Given the description of an element on the screen output the (x, y) to click on. 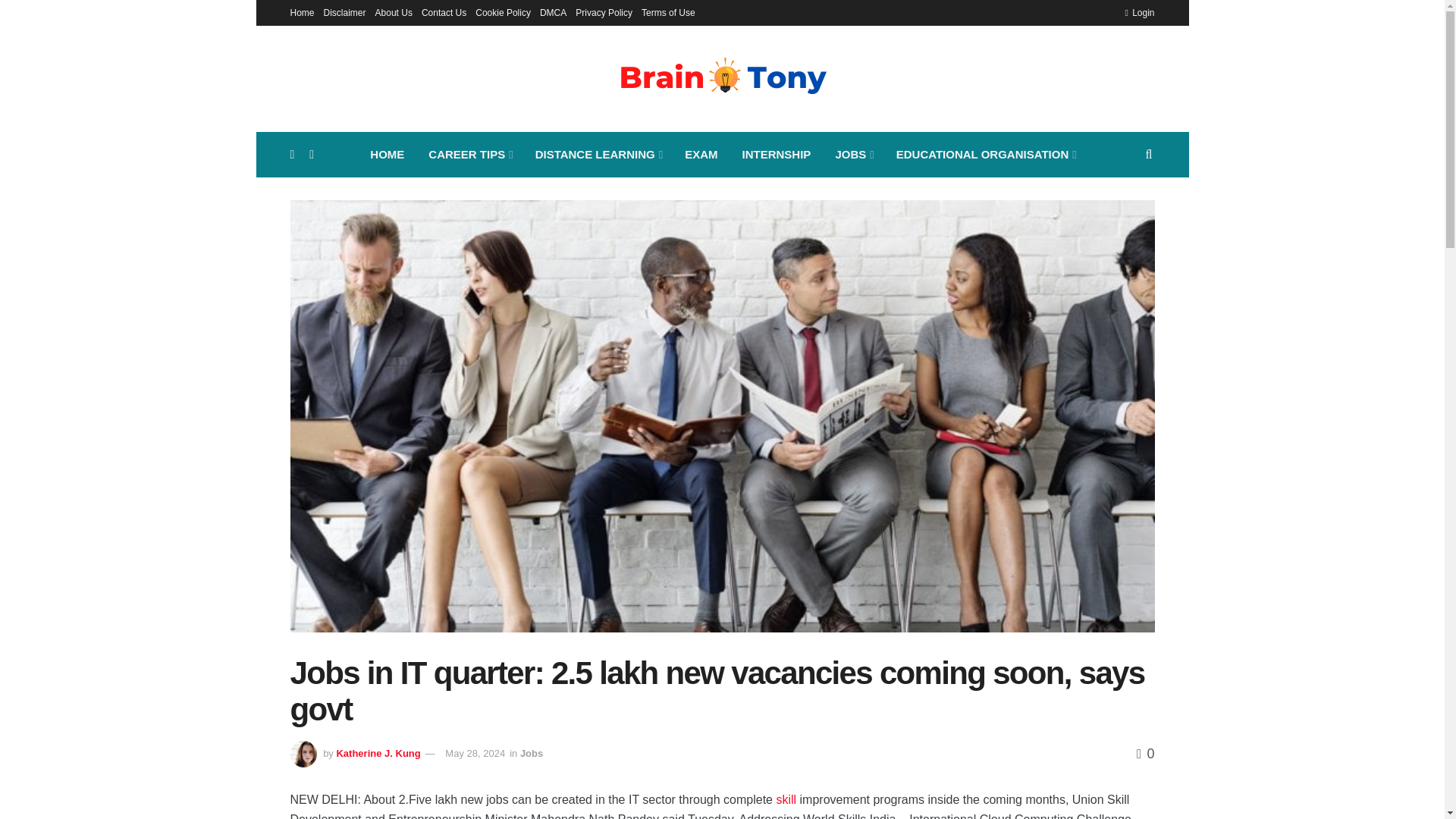
EDUCATIONAL ORGANISATION (984, 154)
About Us (393, 12)
DMCA (553, 12)
CAREER TIPS (469, 154)
Login (1139, 12)
DISTANCE LEARNING (597, 154)
Privacy Policy (603, 12)
Contact Us (443, 12)
INTERNSHIP (777, 154)
Terms of Use (668, 12)
Disclaimer (344, 12)
HOME (387, 154)
Cookie Policy (503, 12)
JOBS (852, 154)
